Given the description of an element on the screen output the (x, y) to click on. 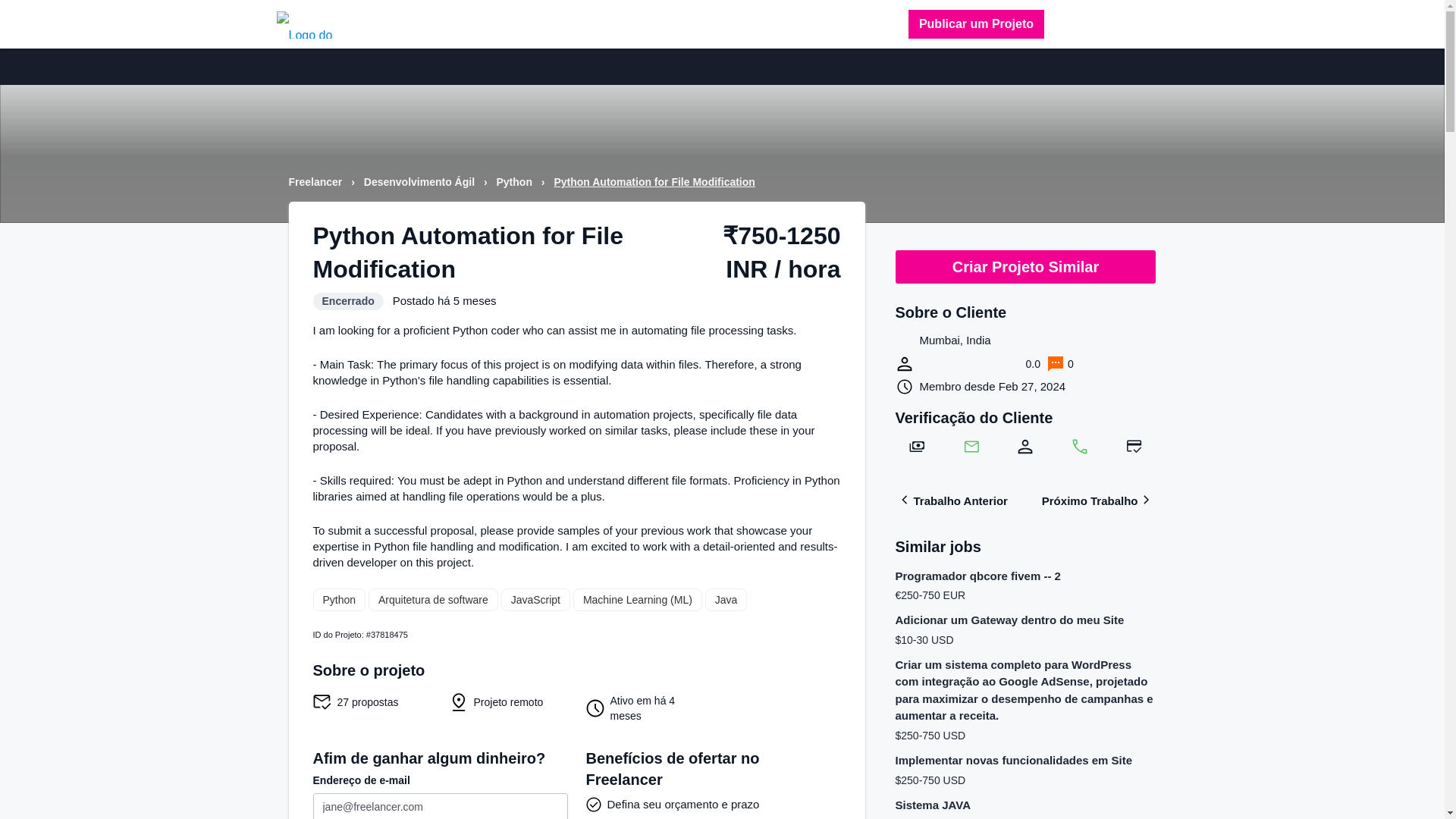
Java (726, 599)
Python (515, 182)
Python (339, 599)
Freelancer (316, 182)
Publicar um Projeto (975, 23)
Arquitetura de software (432, 599)
JavaScript (535, 599)
